Given the description of an element on the screen output the (x, y) to click on. 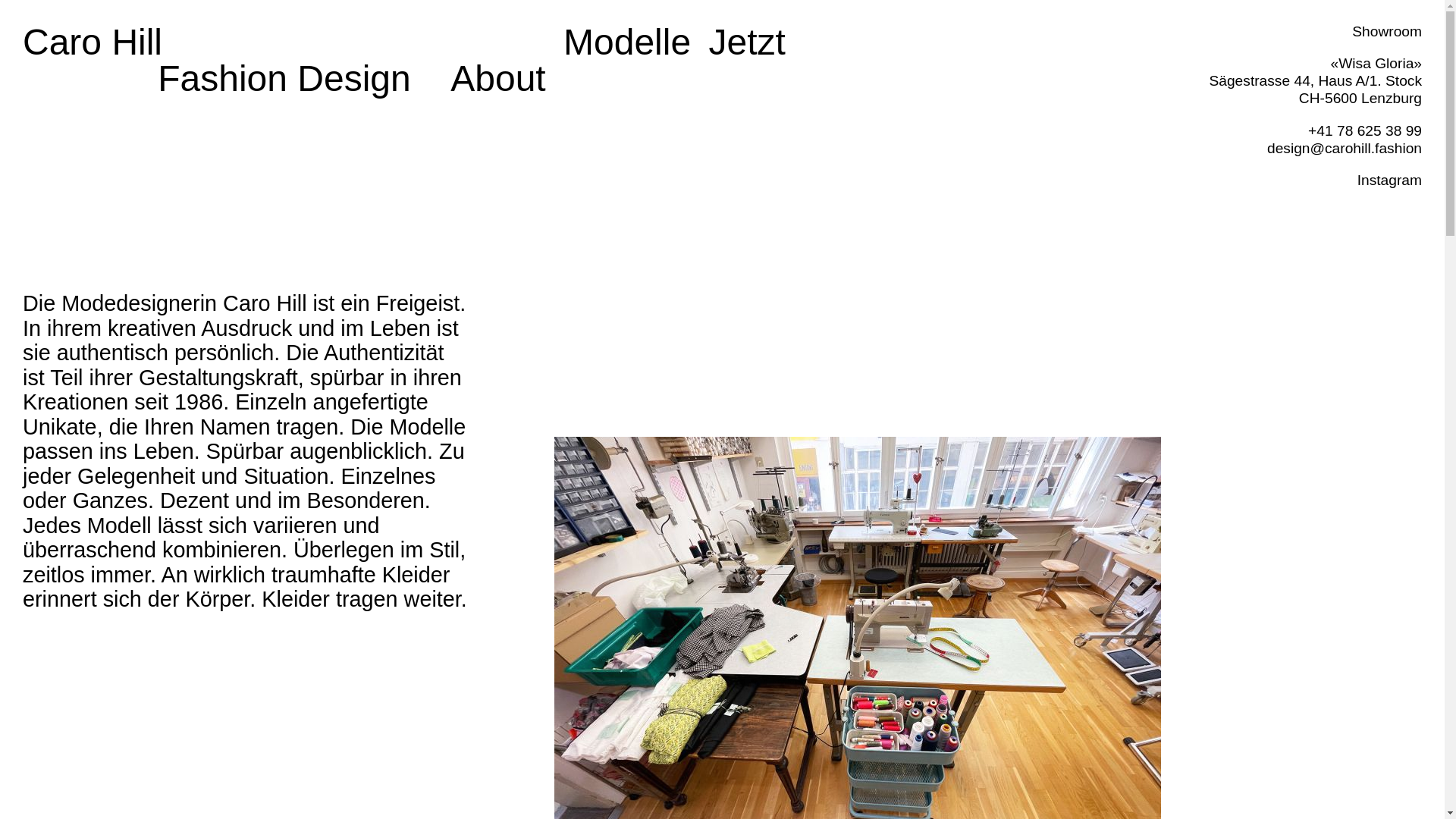
design@carohill.fashion Element type: text (1344, 148)
Caro Hill Fashion Design Element type: text (227, 41)
Jetzt Element type: text (746, 41)
Modelle Element type: text (626, 41)
Instagram Element type: text (1389, 180)
About Element type: text (497, 78)
